Given the description of an element on the screen output the (x, y) to click on. 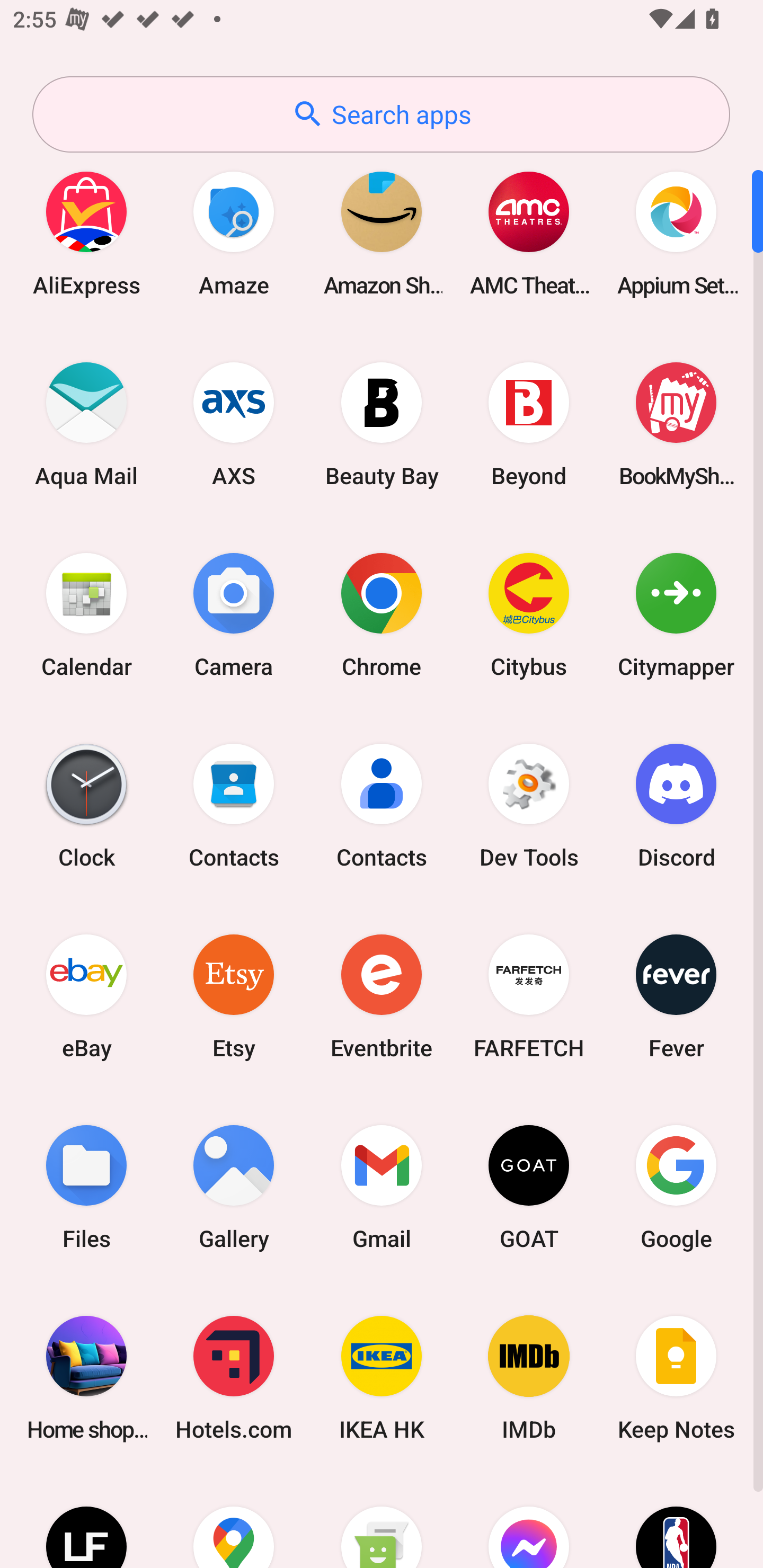
Citymapper (676, 614)
